Given the description of an element on the screen output the (x, y) to click on. 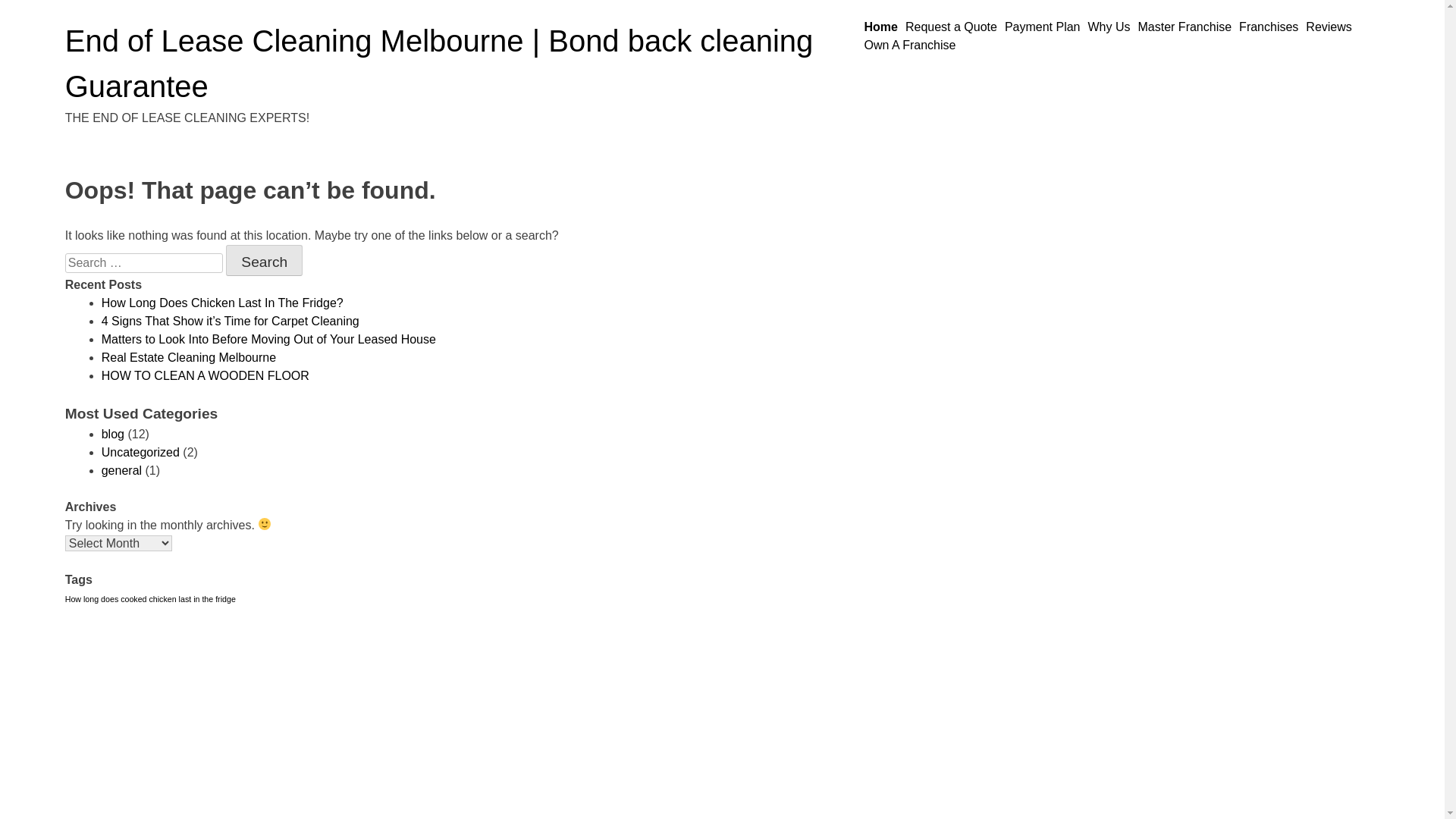
blog Element type: text (112, 433)
general Element type: text (121, 470)
Why Us Element type: text (1109, 27)
Real Estate Cleaning Melbourne Element type: text (188, 357)
Home Element type: text (880, 27)
Matters to Look Into Before Moving Out of Your Leased House Element type: text (268, 338)
Search Element type: text (263, 259)
Own A Franchise Element type: text (909, 45)
Franchises Element type: text (1268, 27)
Master Franchise Element type: text (1185, 27)
Reviews Element type: text (1328, 27)
HOW TO CLEAN A WOODEN FLOOR Element type: text (205, 375)
Uncategorized Element type: text (140, 451)
Payment Plan Element type: text (1042, 27)
Request a Quote Element type: text (951, 27)
How Long Does Chicken Last In The Fridge? Element type: text (222, 302)
How long does cooked chicken last in the fridge Element type: text (150, 598)
